Given the description of an element on the screen output the (x, y) to click on. 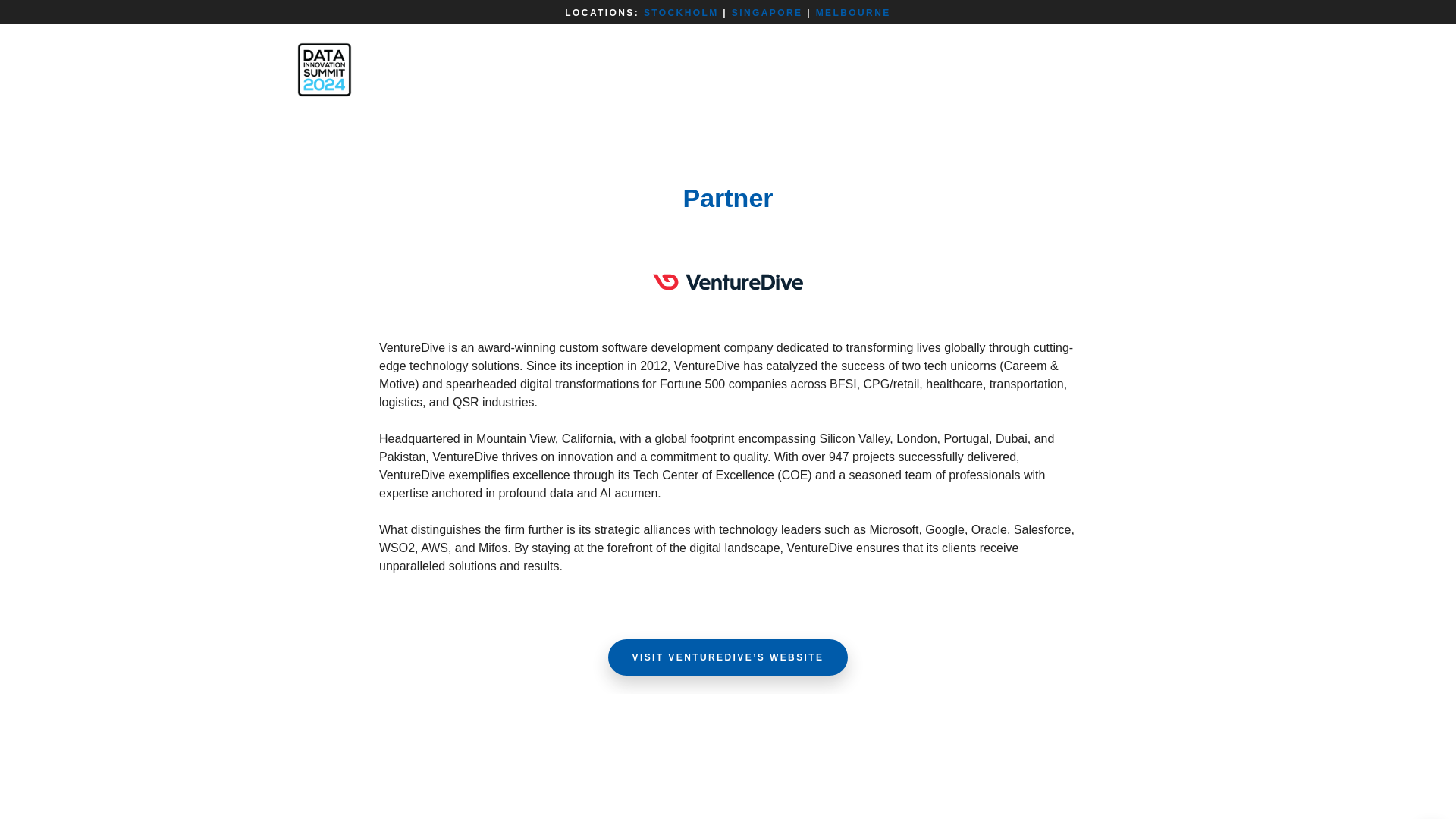
SINGAPORE (767, 12)
STOCKHOLM (681, 12)
Partner (727, 197)
MELBOURNE (853, 12)
